Given the description of an element on the screen output the (x, y) to click on. 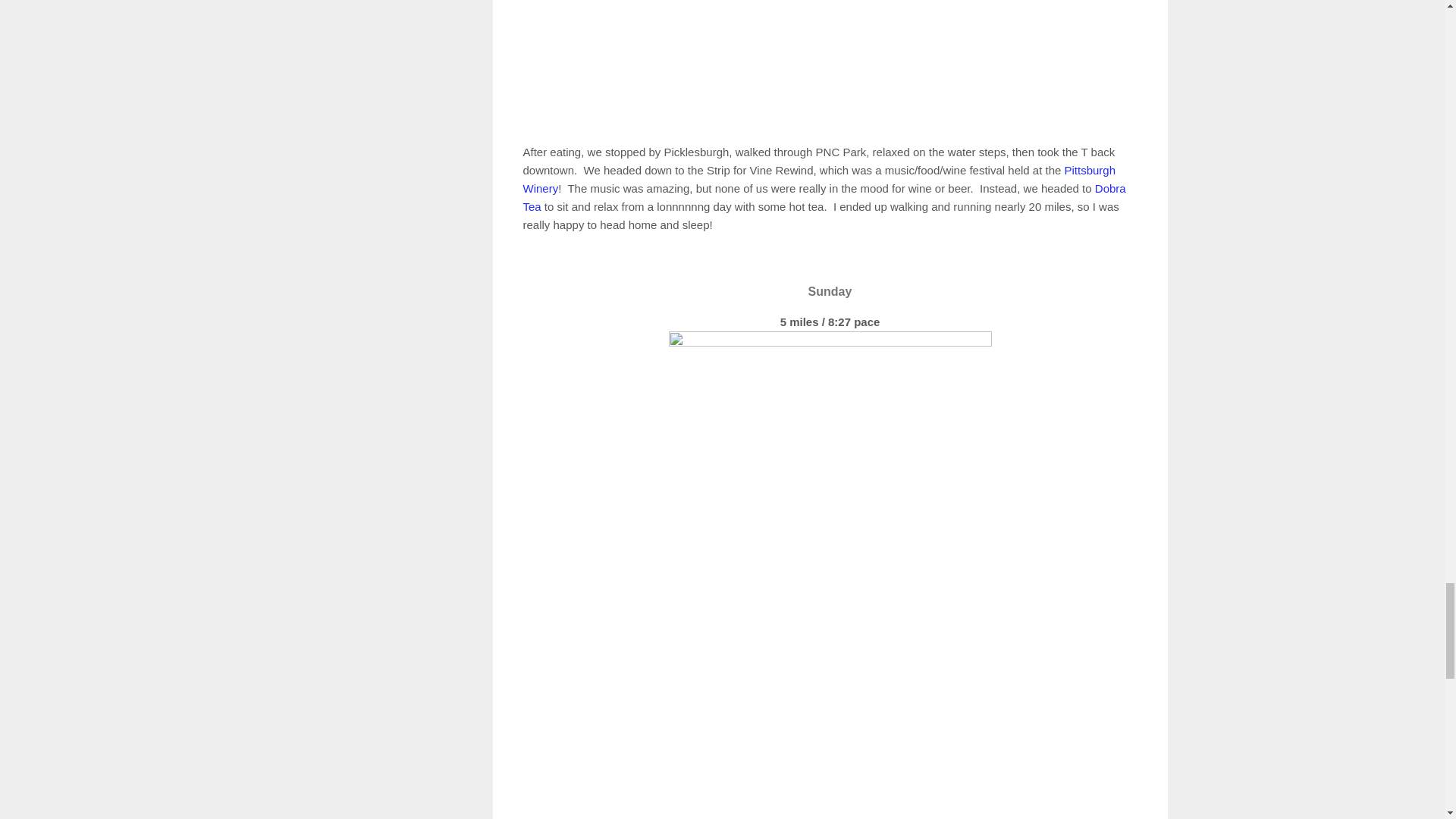
Pittsburgh Winery (819, 178)
Dobra Tea (823, 196)
